Given the description of an element on the screen output the (x, y) to click on. 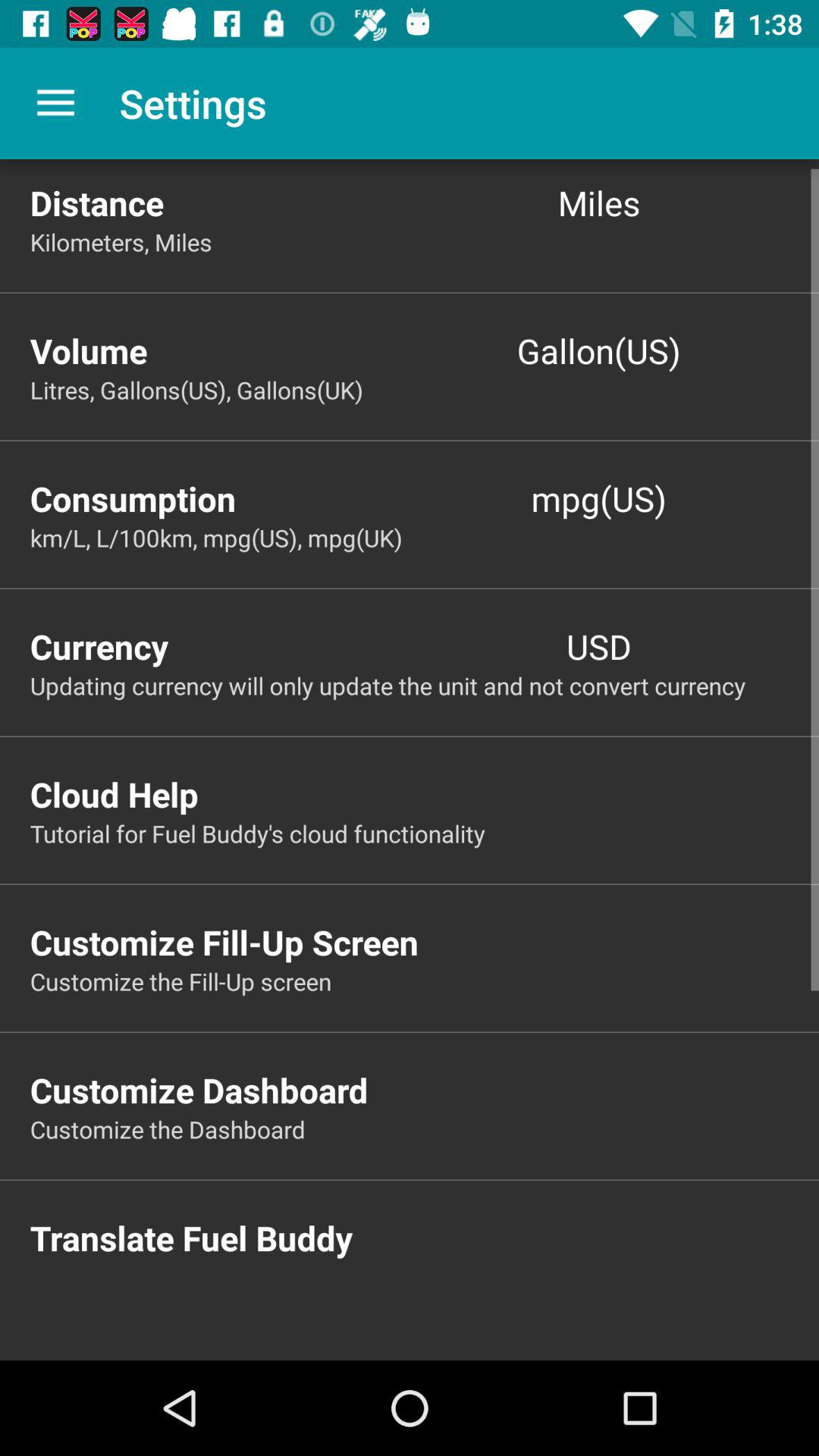
tap the icon next to the settings item (55, 103)
